Given the description of an element on the screen output the (x, y) to click on. 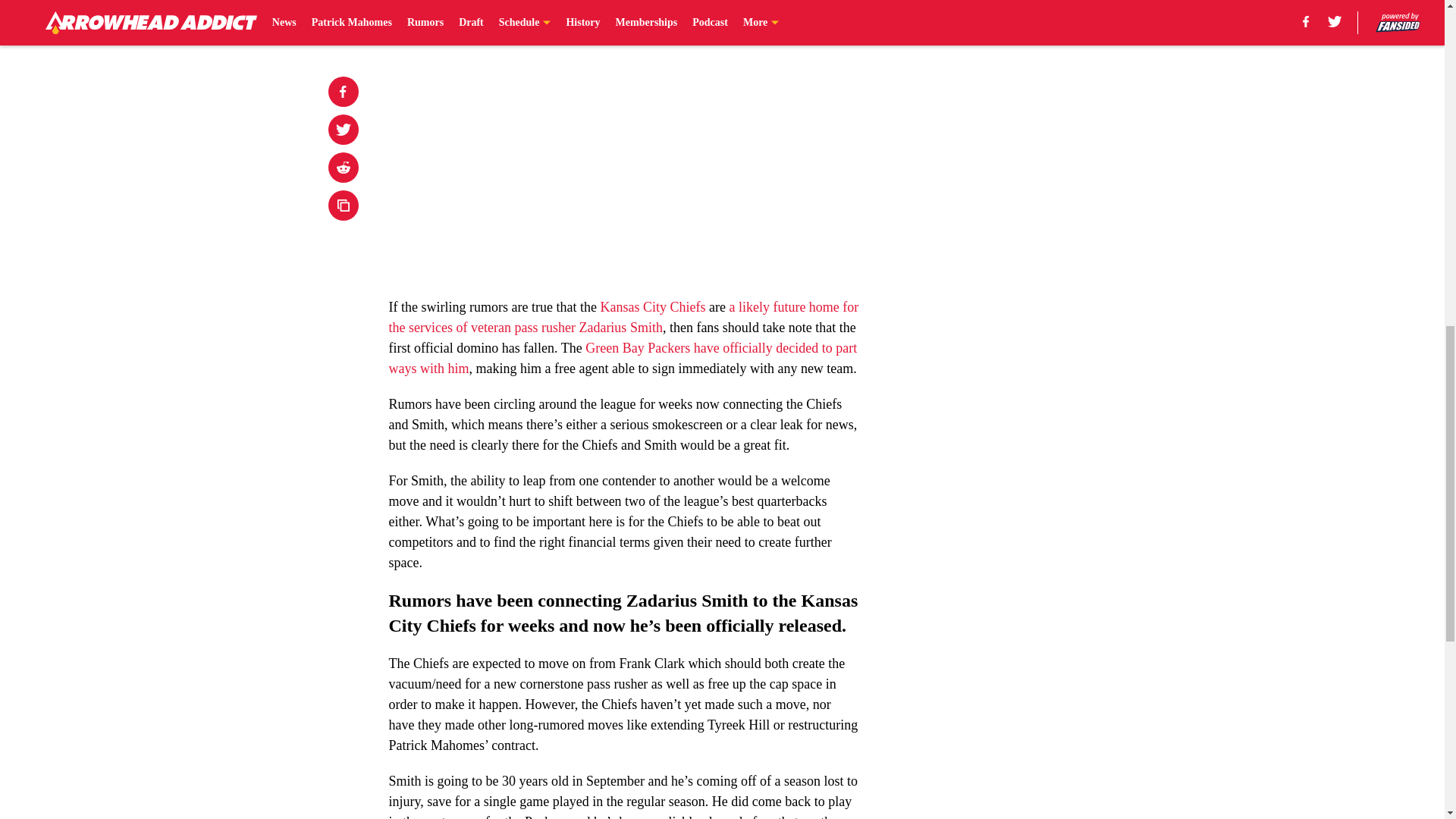
Kansas City Chiefs (651, 306)
